Given the description of an element on the screen output the (x, y) to click on. 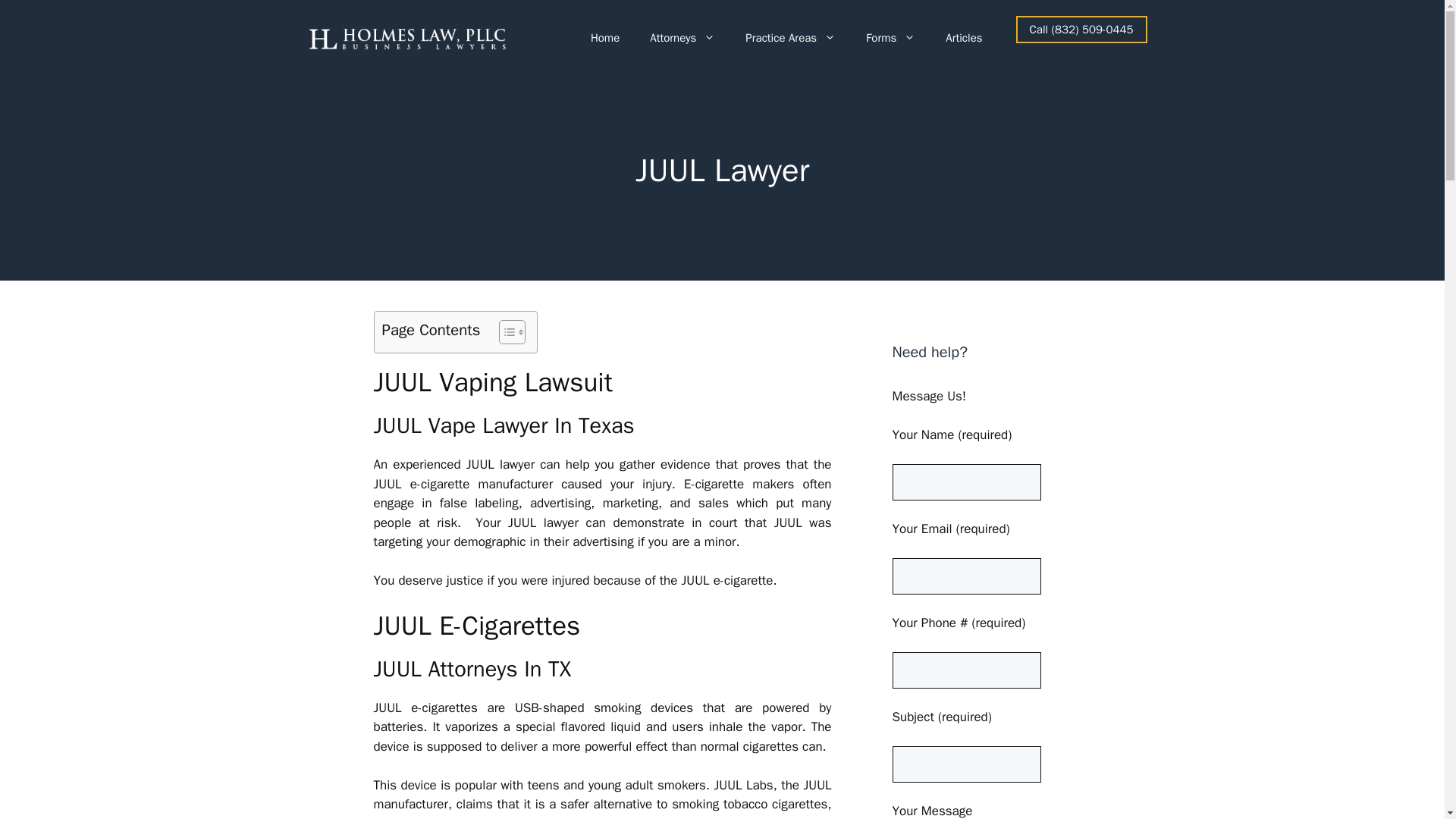
Home (604, 37)
Practice Areas (790, 37)
Forms (890, 37)
Articles (963, 37)
Attorneys (682, 37)
